Given the description of an element on the screen output the (x, y) to click on. 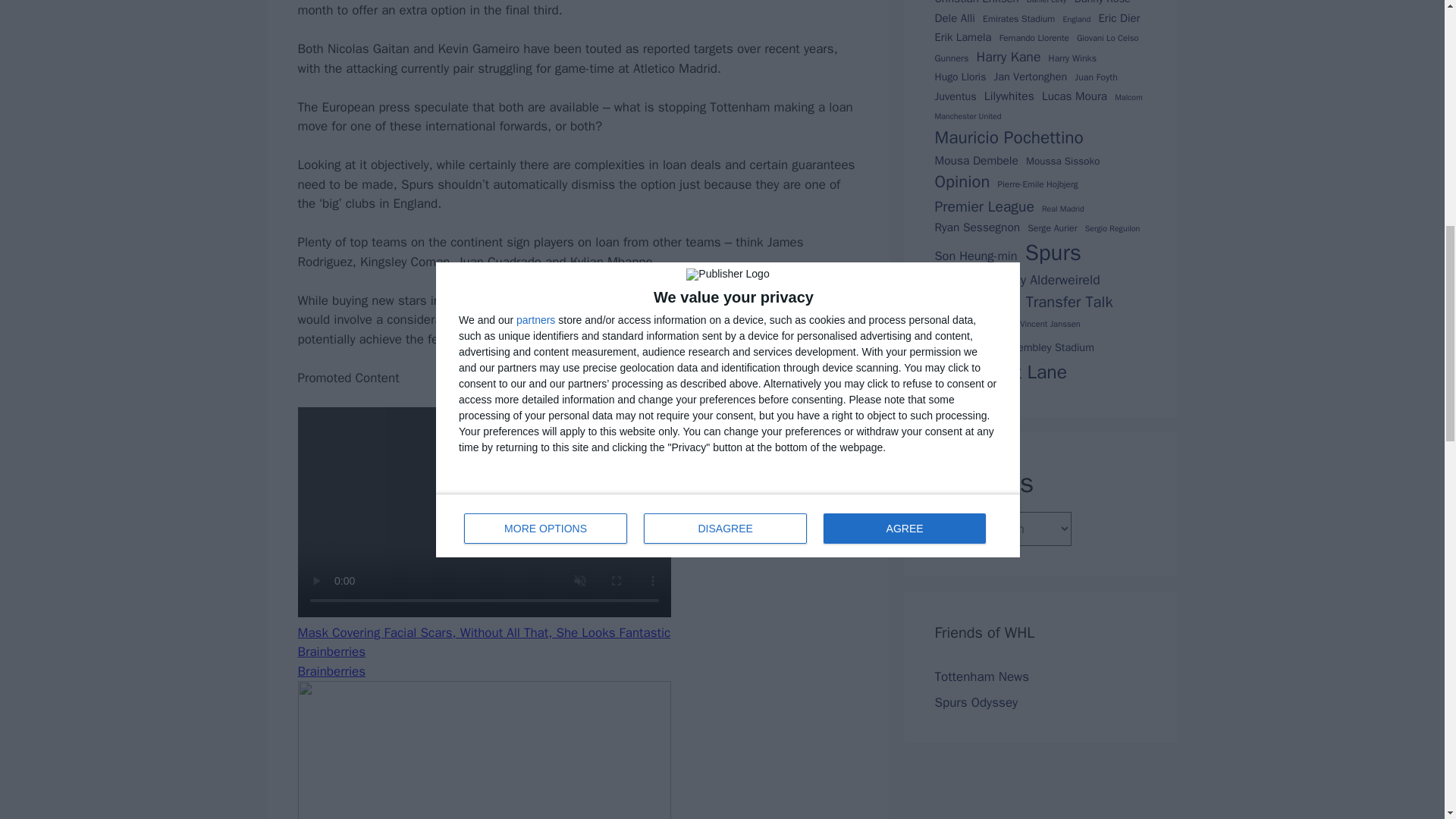
Dele Alli (954, 17)
Danny Rose (1102, 3)
Gunners (951, 58)
Fernando Llorente (1033, 38)
Christian Eriksen (975, 3)
Daniel Levy (1046, 2)
Emirates Stadium (1018, 18)
Erik Lamela (962, 36)
England (1076, 19)
Giovani Lo Celso (1107, 38)
